Given the description of an element on the screen output the (x, y) to click on. 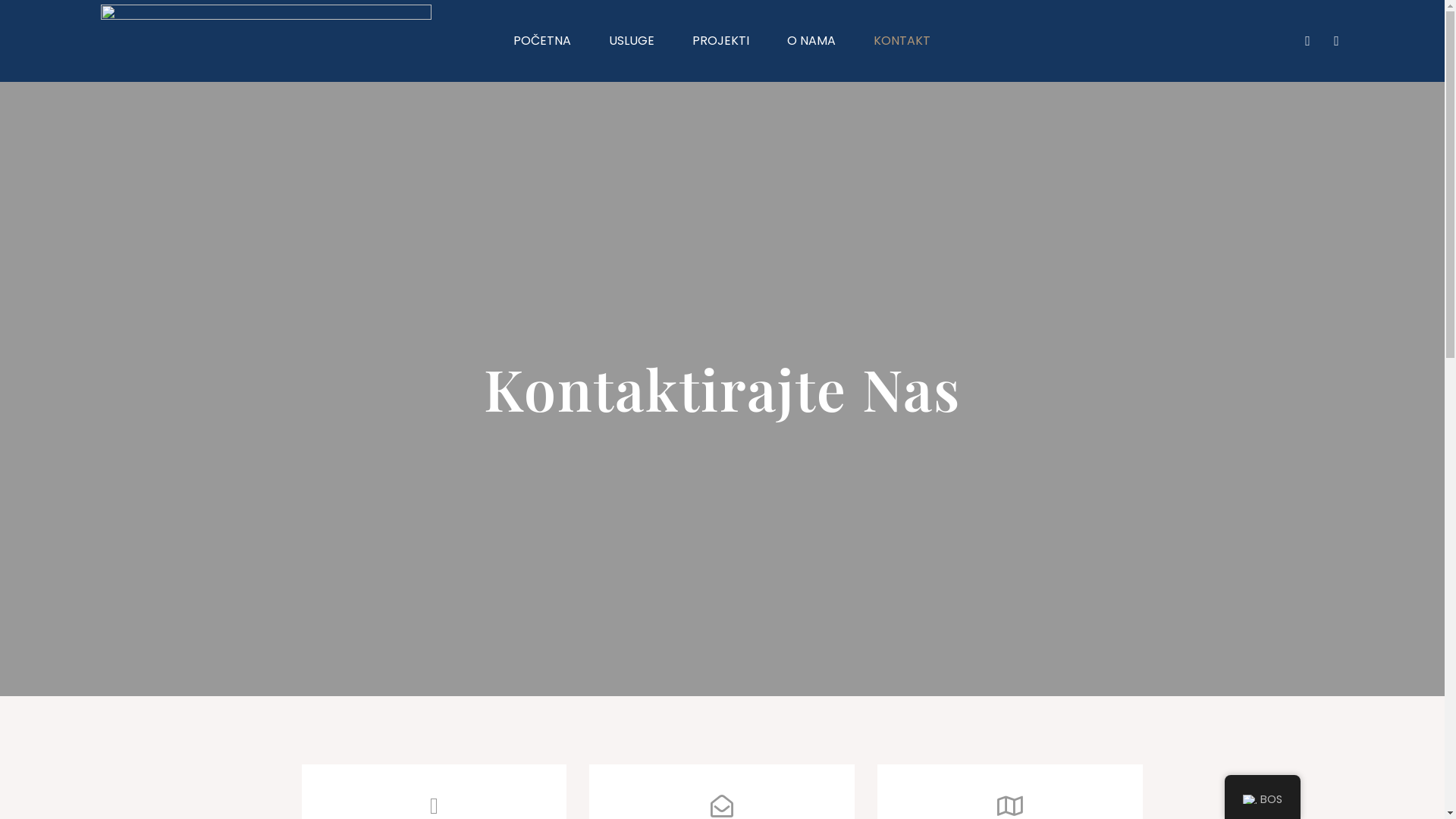
Bosanski Element type: hover (1248, 798)
O NAMA Element type: text (811, 40)
USLUGE Element type: text (631, 40)
PROJEKTI Element type: text (720, 40)
KONTAKT Element type: text (901, 40)
